Given the description of an element on the screen output the (x, y) to click on. 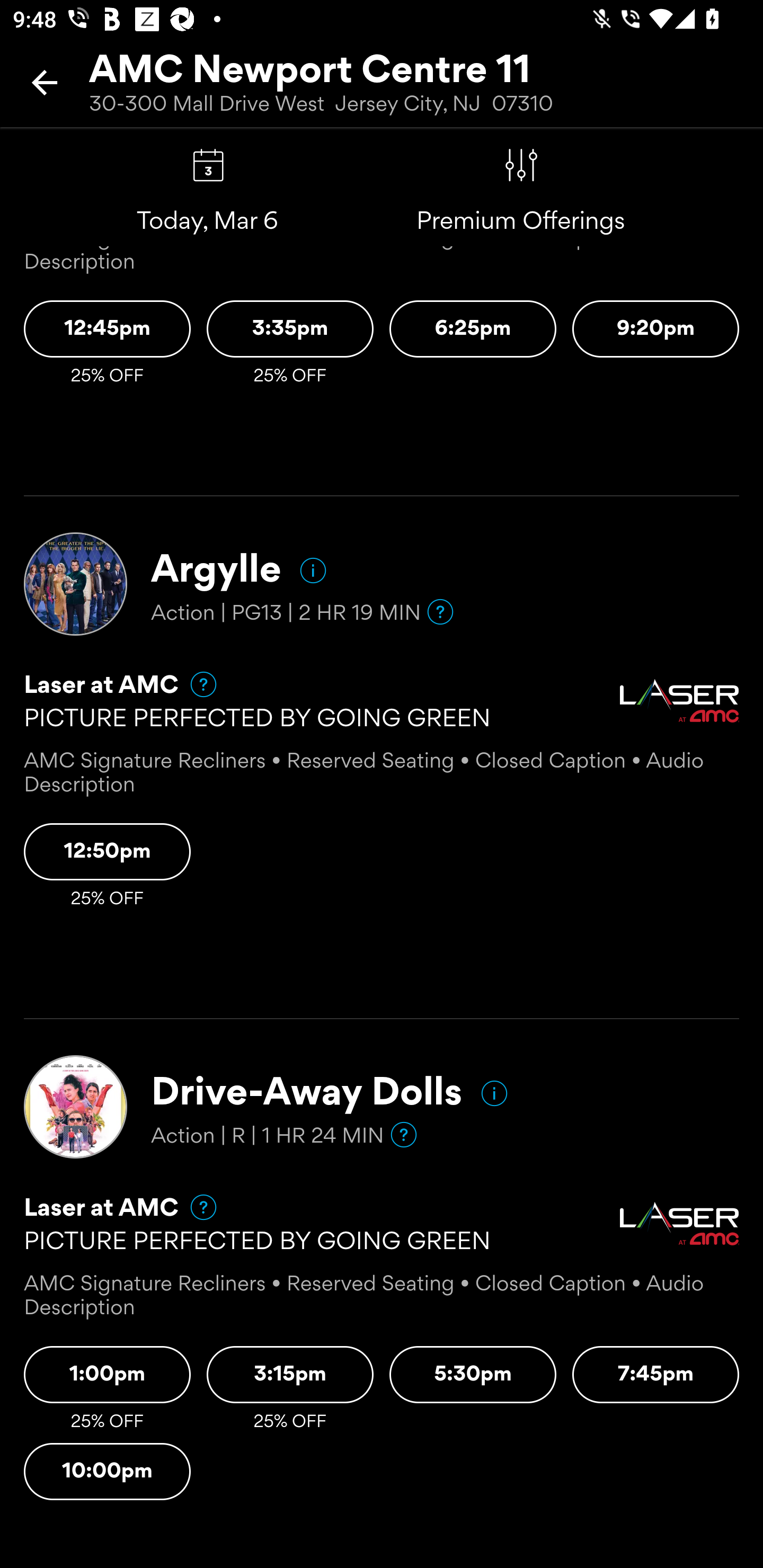
Back (44, 82)
Change selected day (208, 165)
Premium Offerings (520, 165)
Info (312, 570)
Help (440, 611)
Help (195, 683)
Info (494, 1092)
Help (403, 1134)
Help (195, 1207)
